Given the description of an element on the screen output the (x, y) to click on. 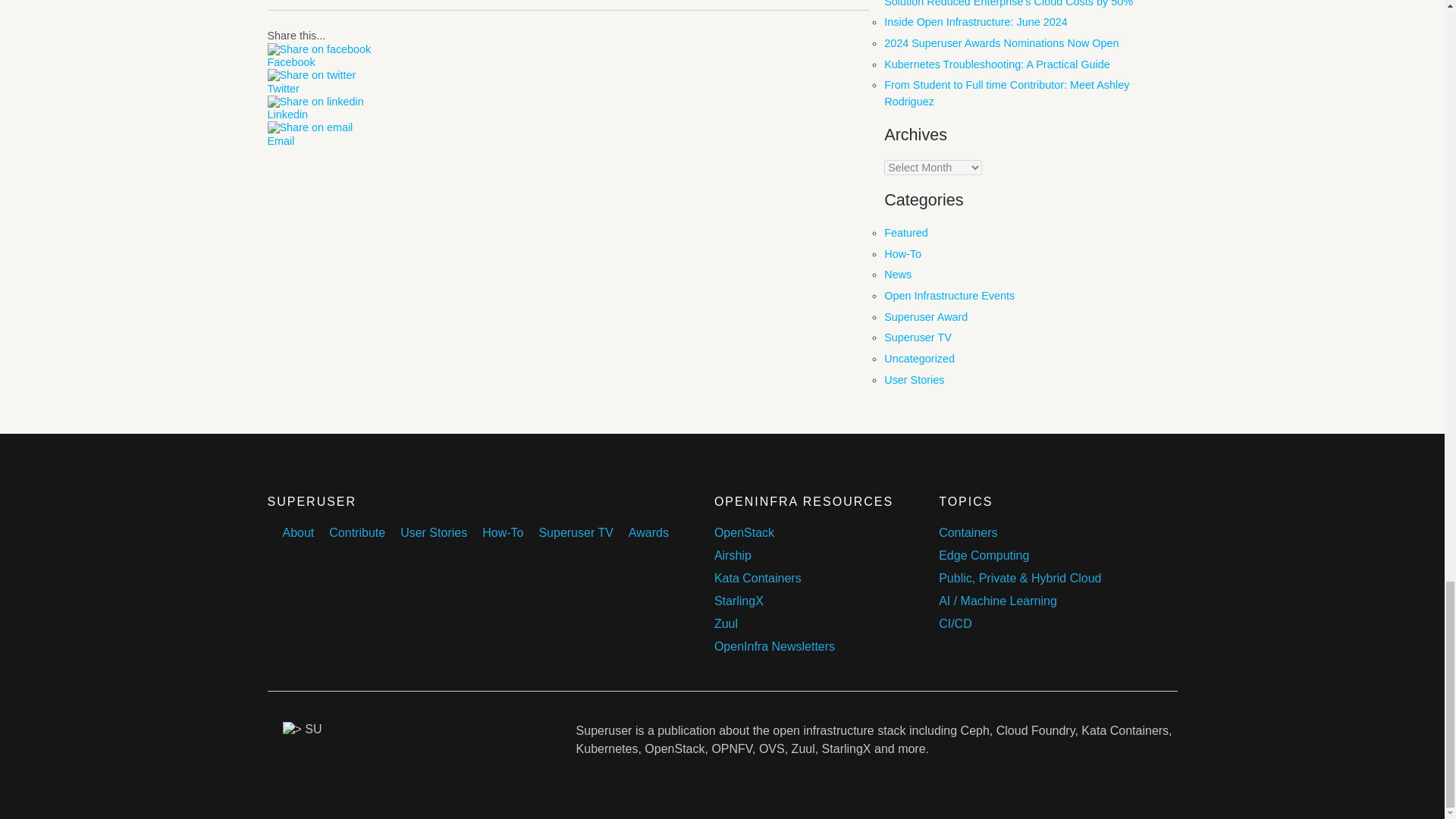
Linkedin (566, 114)
Facebook (566, 62)
facebook (318, 49)
Twitter (566, 88)
email (309, 127)
Email (566, 141)
twitter (310, 74)
linkedin (314, 101)
